Given the description of an element on the screen output the (x, y) to click on. 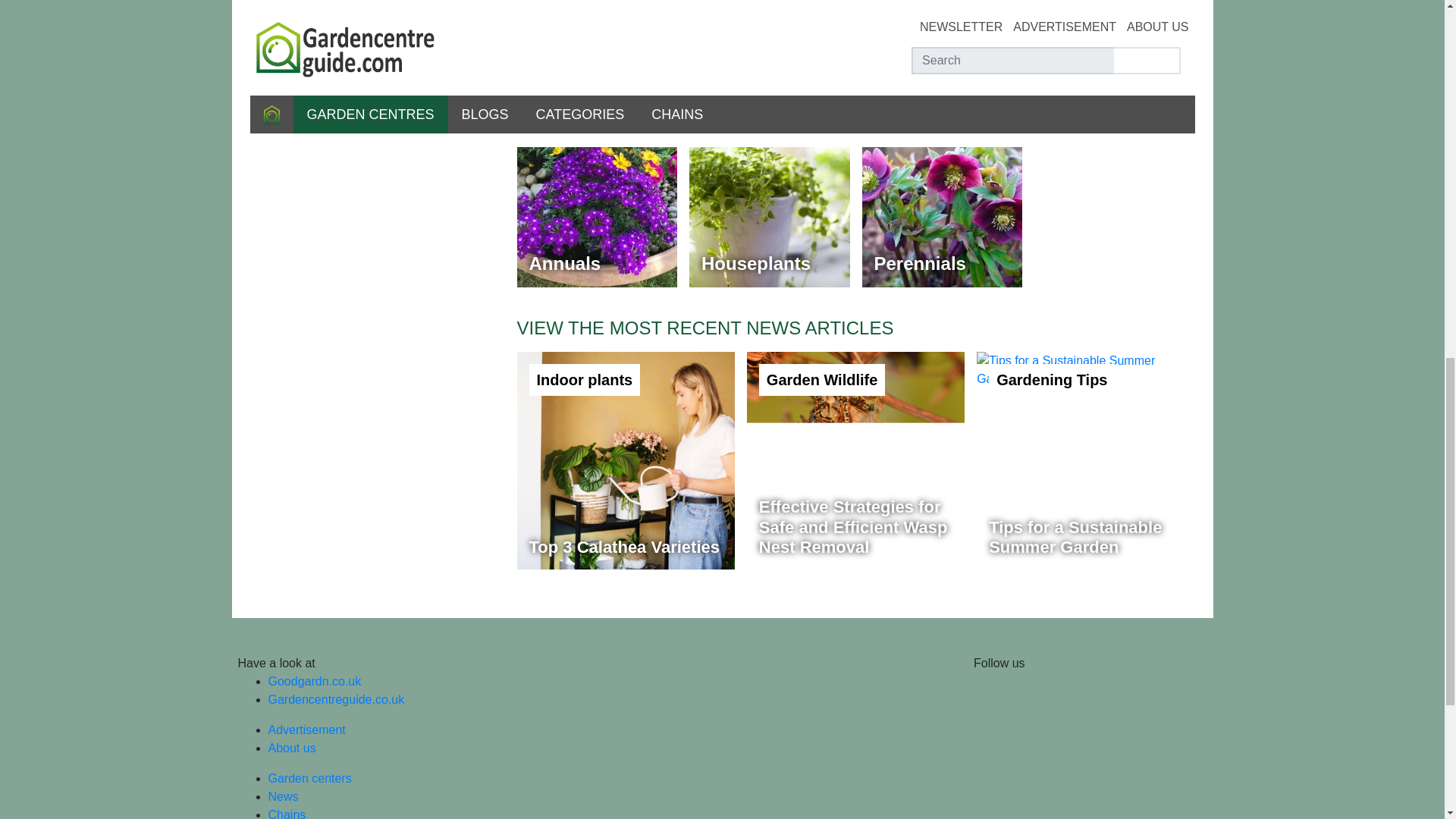
News (282, 796)
Perennials (941, 207)
Annuals (597, 207)
Goodgardn.co.uk (314, 680)
Advertisement (1084, 460)
About us (306, 729)
Garden centers (291, 748)
Gardencentreguide.co.uk (309, 778)
